Given the description of an element on the screen output the (x, y) to click on. 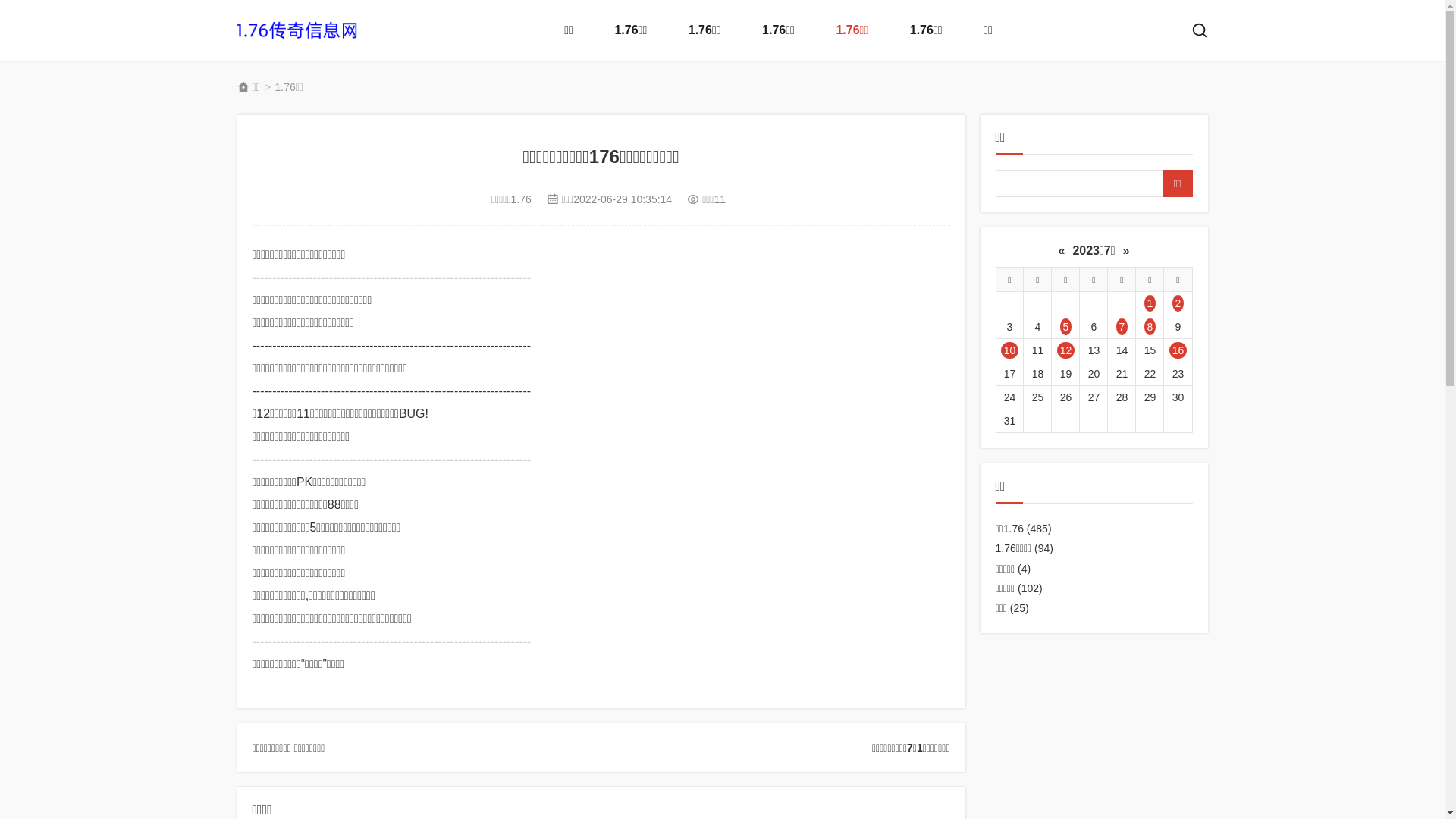
12 Element type: text (1065, 350)
10 Element type: text (1009, 350)
8 Element type: text (1149, 326)
7 Element type: text (1121, 326)
1 Element type: text (1149, 303)
2 Element type: text (1177, 302)
5 Element type: text (1065, 326)
16 Element type: text (1177, 349)
